Given the description of an element on the screen output the (x, y) to click on. 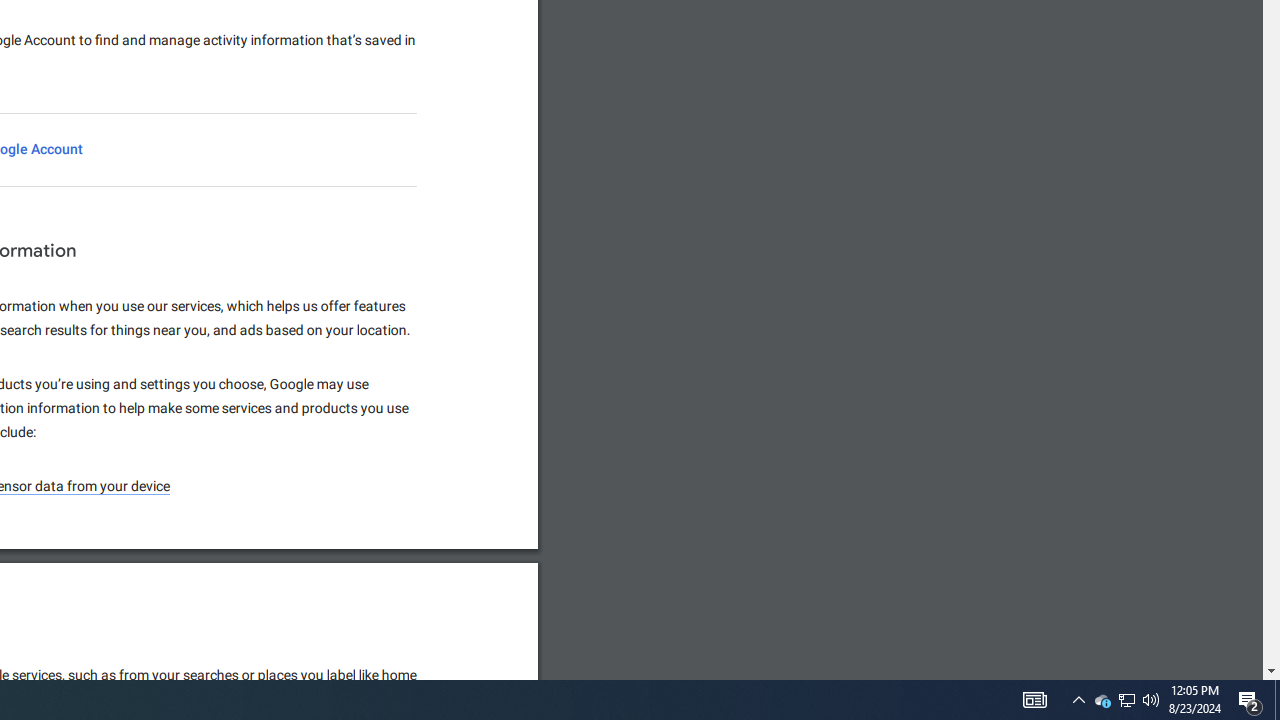
places you label like home (338, 675)
